Given the description of an element on the screen output the (x, y) to click on. 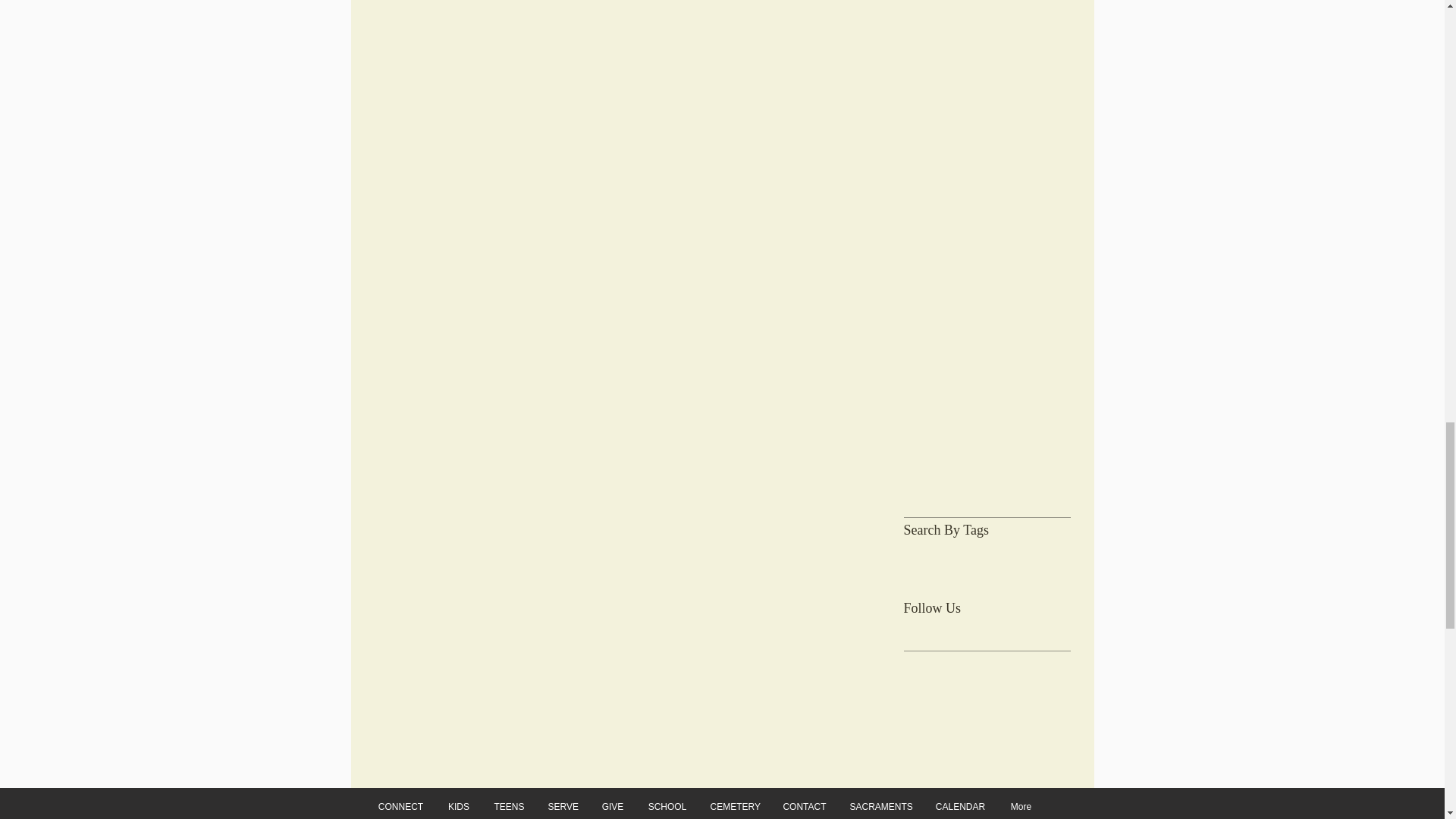
CONNECT (400, 806)
CONTACT (804, 806)
KIDS (458, 806)
CEMETERY (734, 806)
TEENS (509, 806)
SERVE (563, 806)
GIVE (612, 806)
SACRAMENTS (881, 806)
CALENDAR (959, 806)
SCHOOL (666, 806)
